Given the description of an element on the screen output the (x, y) to click on. 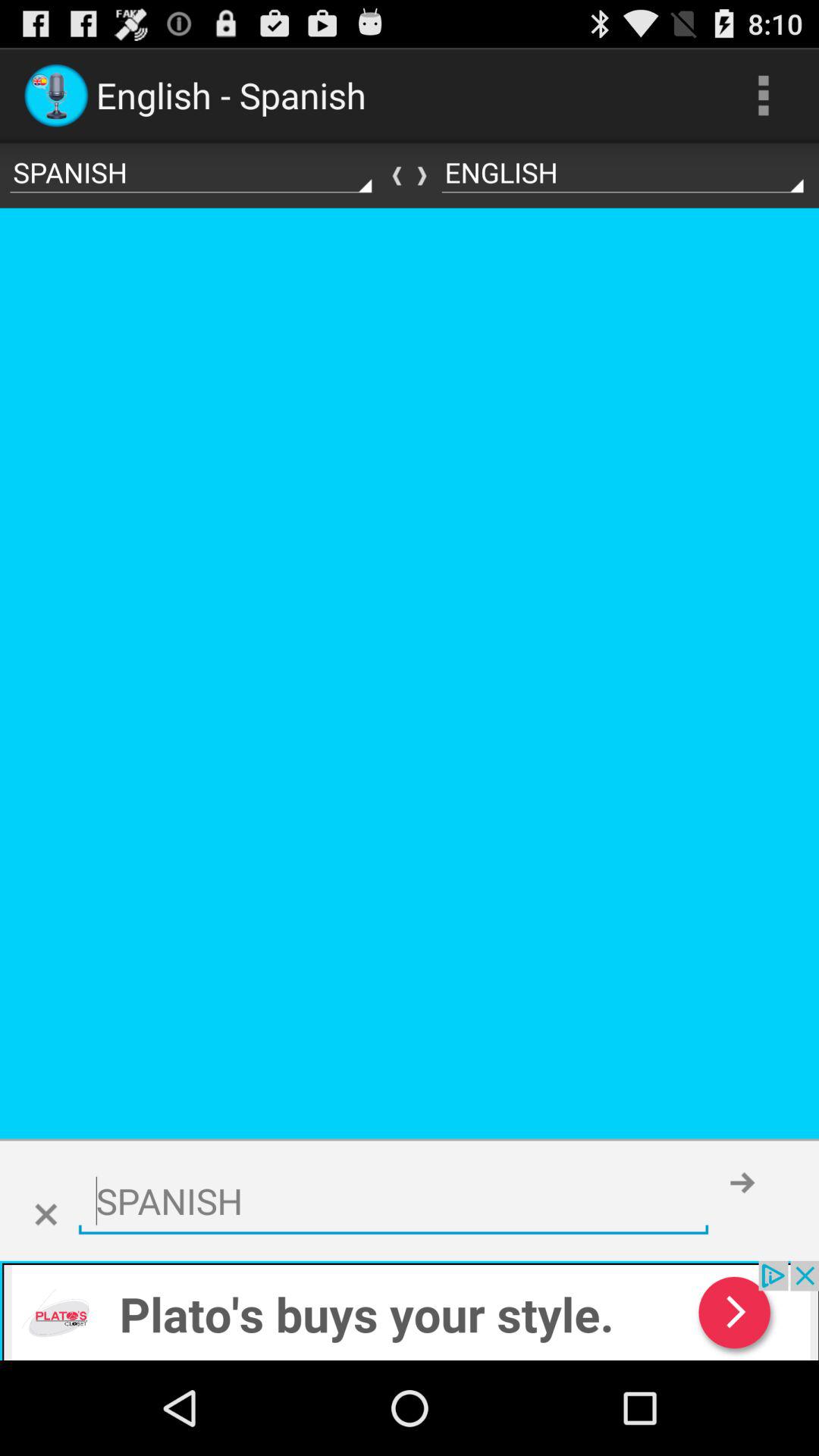
search (393, 1201)
